Given the description of an element on the screen output the (x, y) to click on. 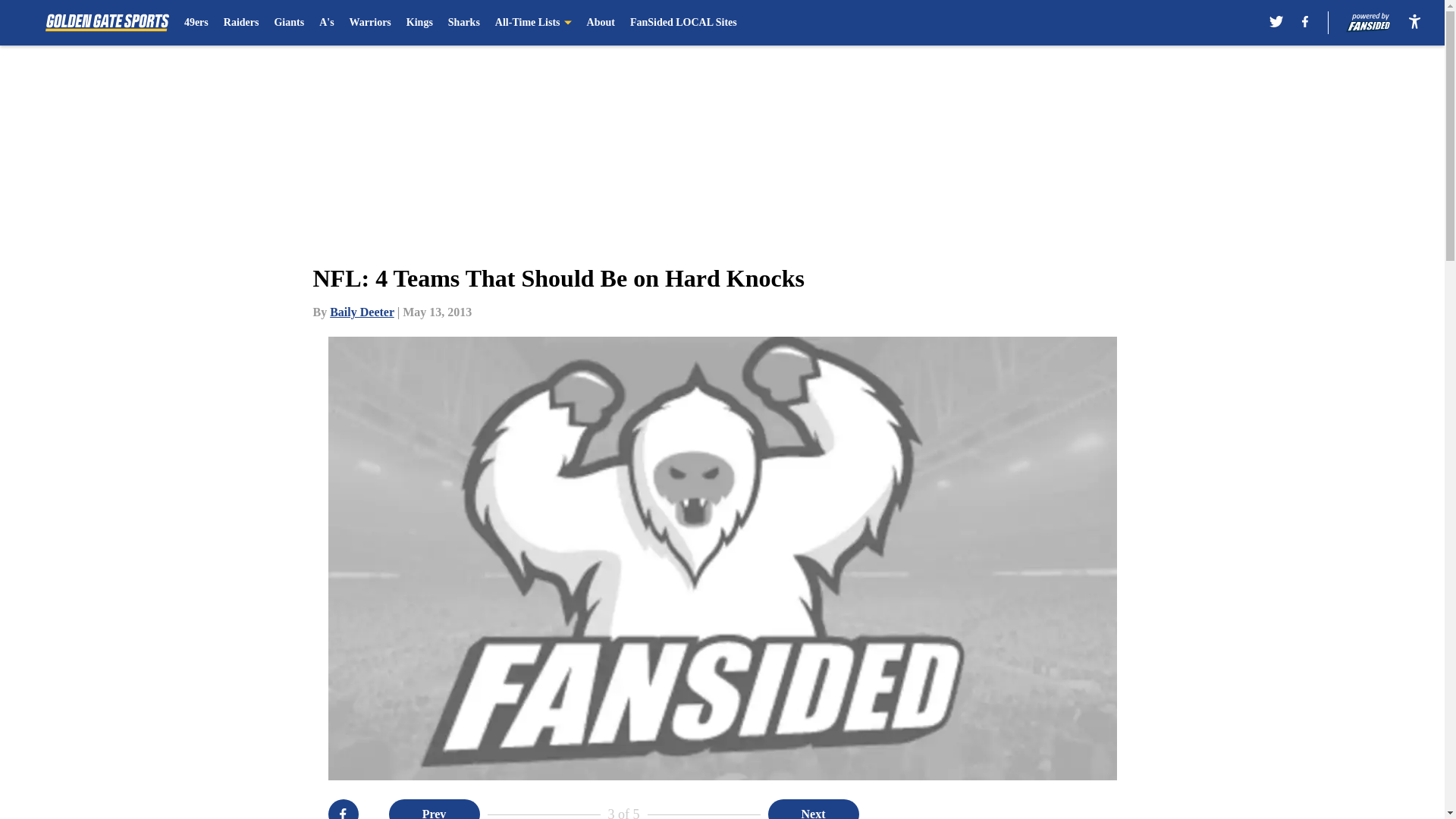
Warriors (370, 22)
Baily Deeter (362, 311)
About (600, 22)
FanSided LOCAL Sites (683, 22)
Kings (419, 22)
A's (325, 22)
Raiders (241, 22)
Next (813, 809)
49ers (196, 22)
Giants (288, 22)
